Given the description of an element on the screen output the (x, y) to click on. 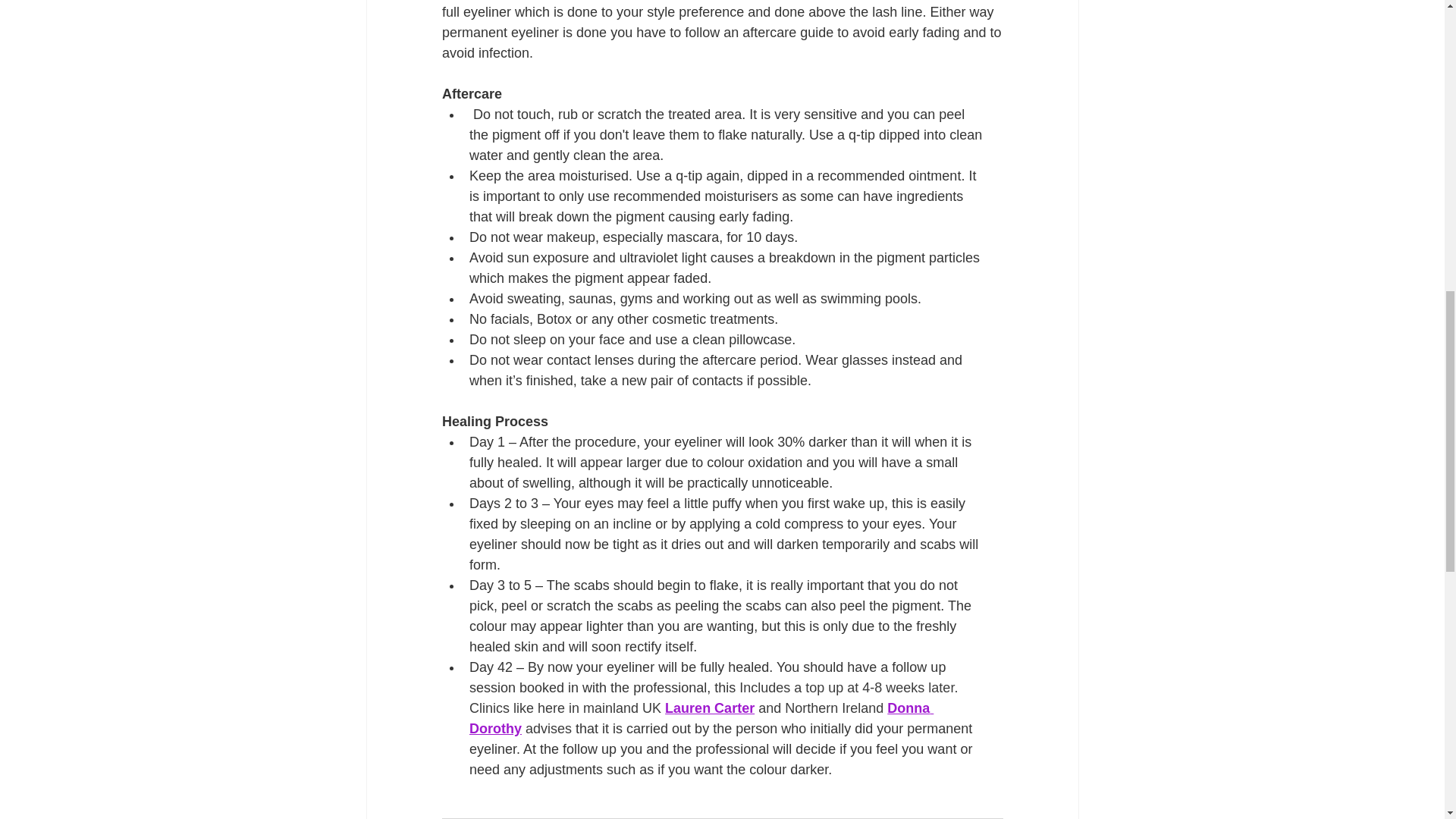
Donna Dorothy (700, 718)
Lauren Carter (709, 708)
